Given the description of an element on the screen output the (x, y) to click on. 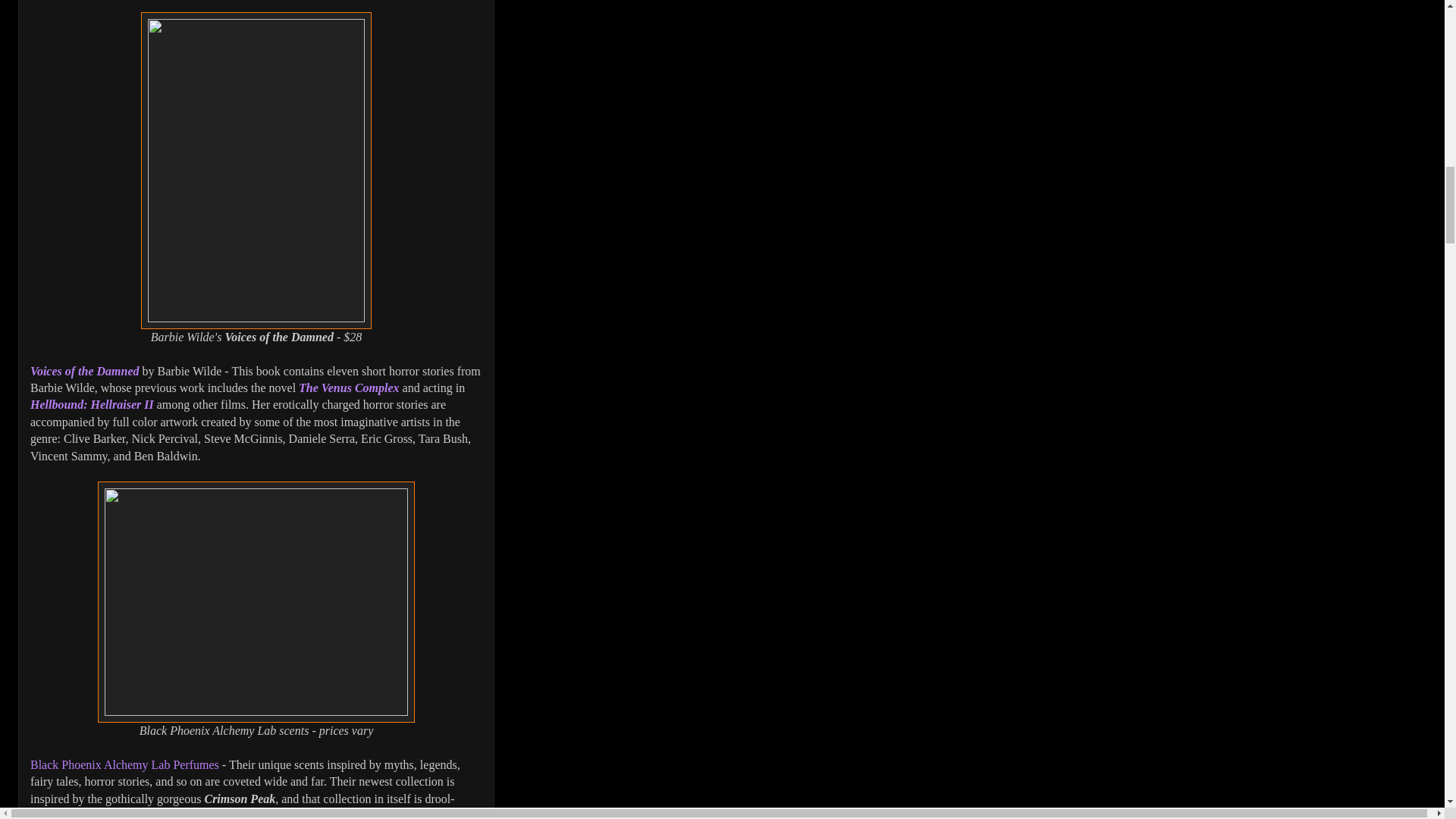
Black Phoenix Alchemy Lab Perfumes (124, 764)
Voices of the Damned (84, 370)
The Venus Complex (348, 387)
Hellbound: Hellraiser II (92, 404)
